Given the description of an element on the screen output the (x, y) to click on. 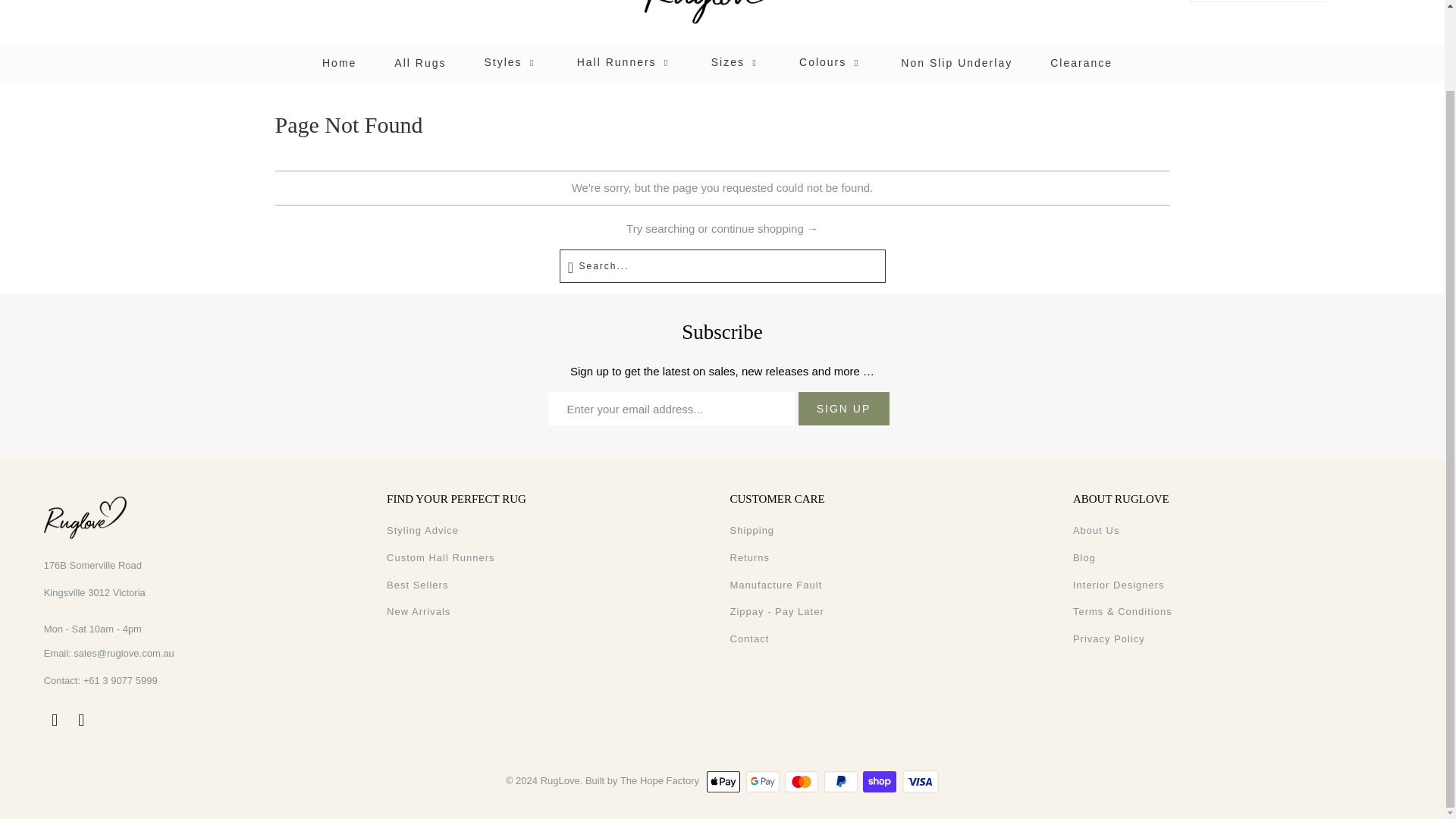
RugLove (722, 18)
Visa (920, 781)
RugLove on Instagram (81, 720)
Google Pay (764, 781)
Apple Pay (724, 781)
Mastercard (802, 781)
PayPal (842, 781)
Shop Pay (881, 781)
Sign Up (842, 408)
RugLove on Facebook (54, 720)
